Given the description of an element on the screen output the (x, y) to click on. 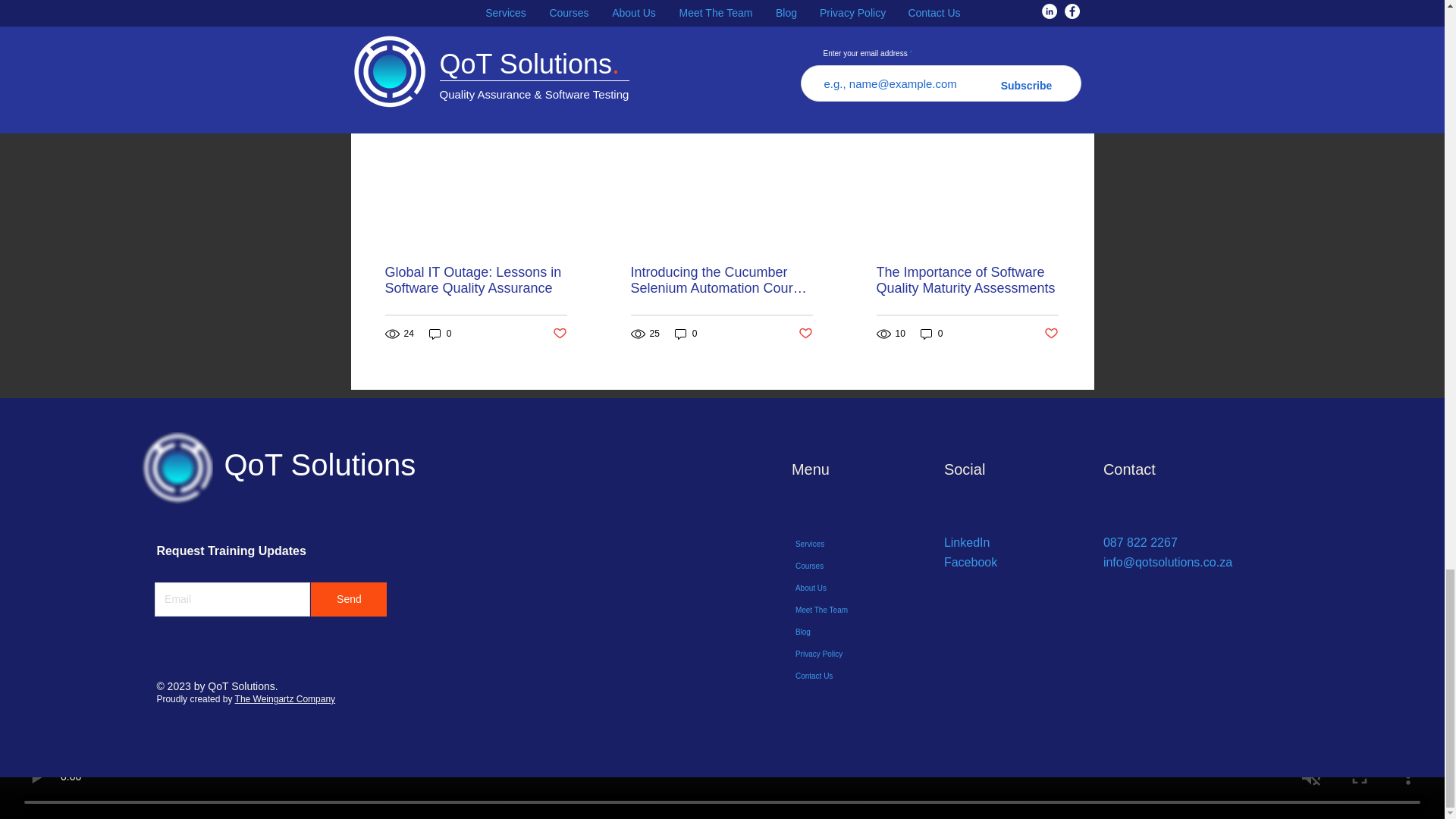
See All (1061, 96)
